Given the description of an element on the screen output the (x, y) to click on. 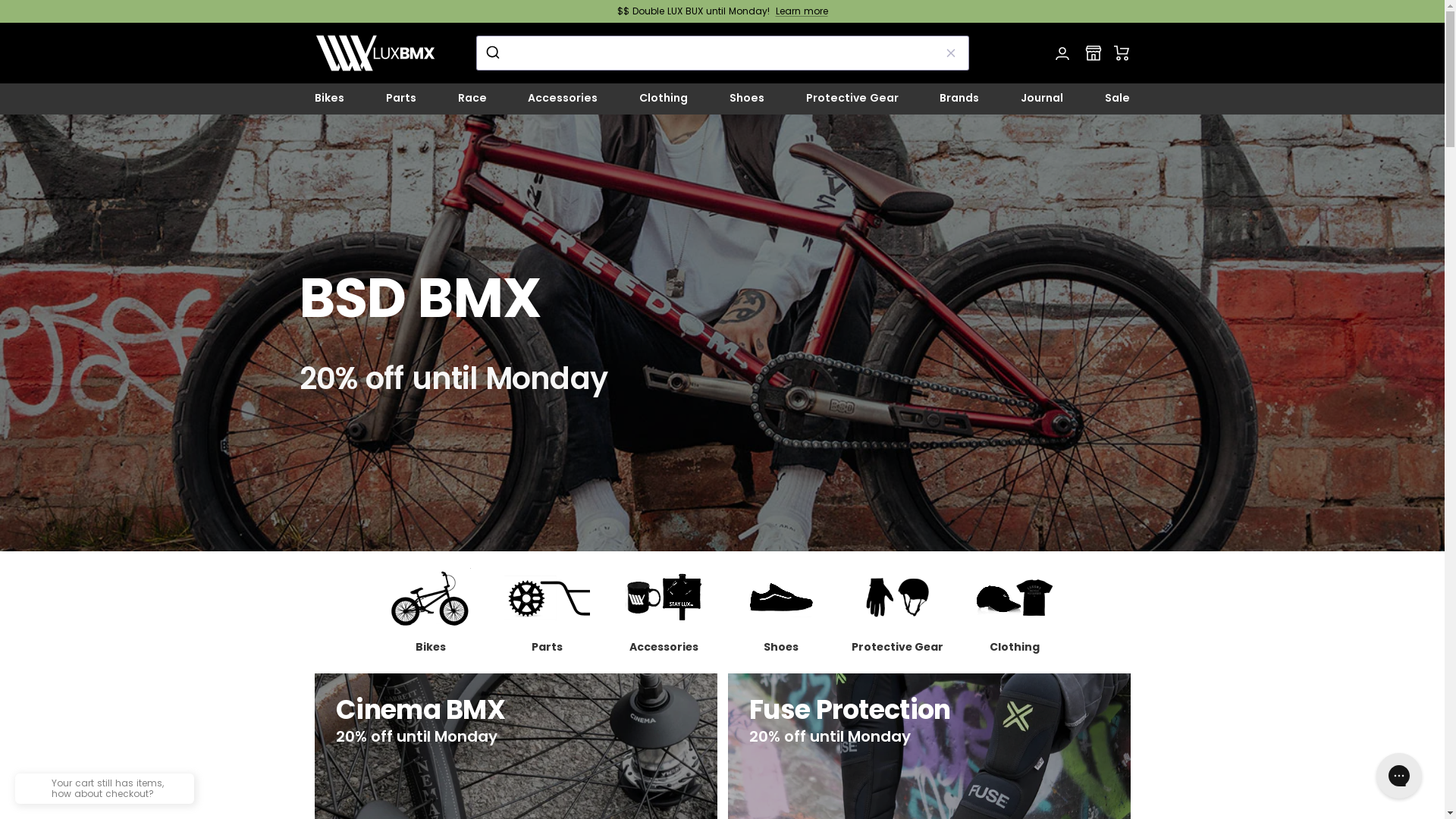
Shoes Element type: text (746, 98)
Race Element type: text (472, 98)
Protective Gear Element type: text (852, 98)
BSD BMX
20% off until Monday Element type: text (722, 332)
Protective Gear Element type: text (896, 611)
Bikes Element type: text (429, 611)
Sale Element type: text (1116, 98)
Journal Element type: text (1041, 98)
Learn more Element type: text (801, 11)
Gorgias live chat messenger Element type: hover (1398, 775)
Parts Element type: text (546, 611)
Clothing Element type: text (1013, 611)
Parts Element type: text (400, 98)
Shoes Element type: text (780, 611)
Clothing Element type: text (663, 98)
Submit Element type: hover (493, 52)
Accessories Element type: text (562, 98)
Brands Element type: text (959, 98)
Clear Element type: hover (950, 52)
LUXBMX Element type: text (375, 52)
Bikes Element type: text (329, 98)
Accessories Element type: text (663, 611)
